Given the description of an element on the screen output the (x, y) to click on. 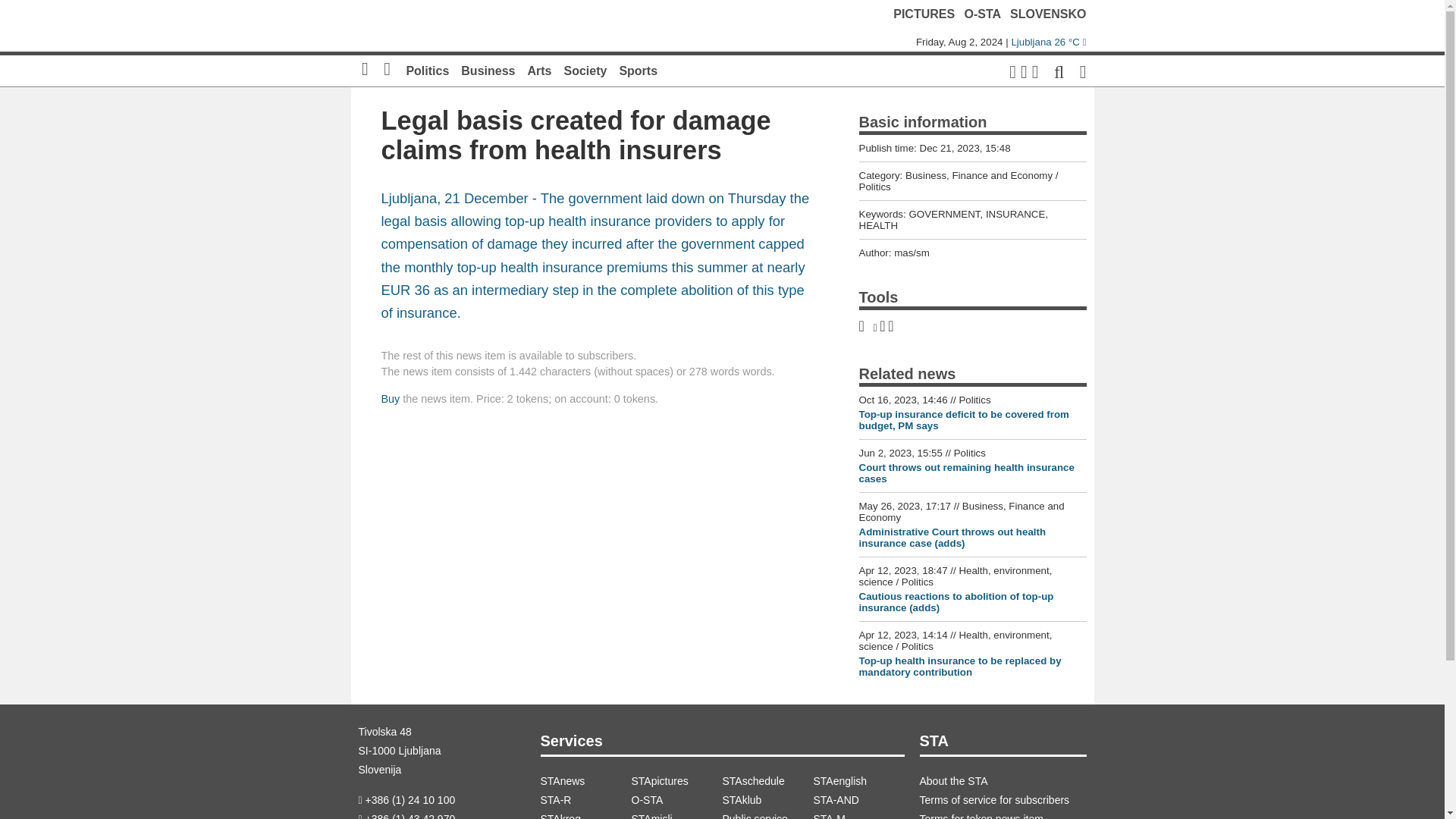
Court throws out remaining health insurance cases (966, 472)
Politics (427, 70)
O-STA (676, 800)
Arts (539, 70)
STApictures (676, 781)
STAenglish (858, 781)
STA-R (585, 800)
Society (585, 70)
SLOVENSKO (1048, 13)
PICTURES (924, 13)
Buy (389, 398)
O-STA (982, 13)
Business (488, 70)
STAnews (585, 781)
